Given the description of an element on the screen output the (x, y) to click on. 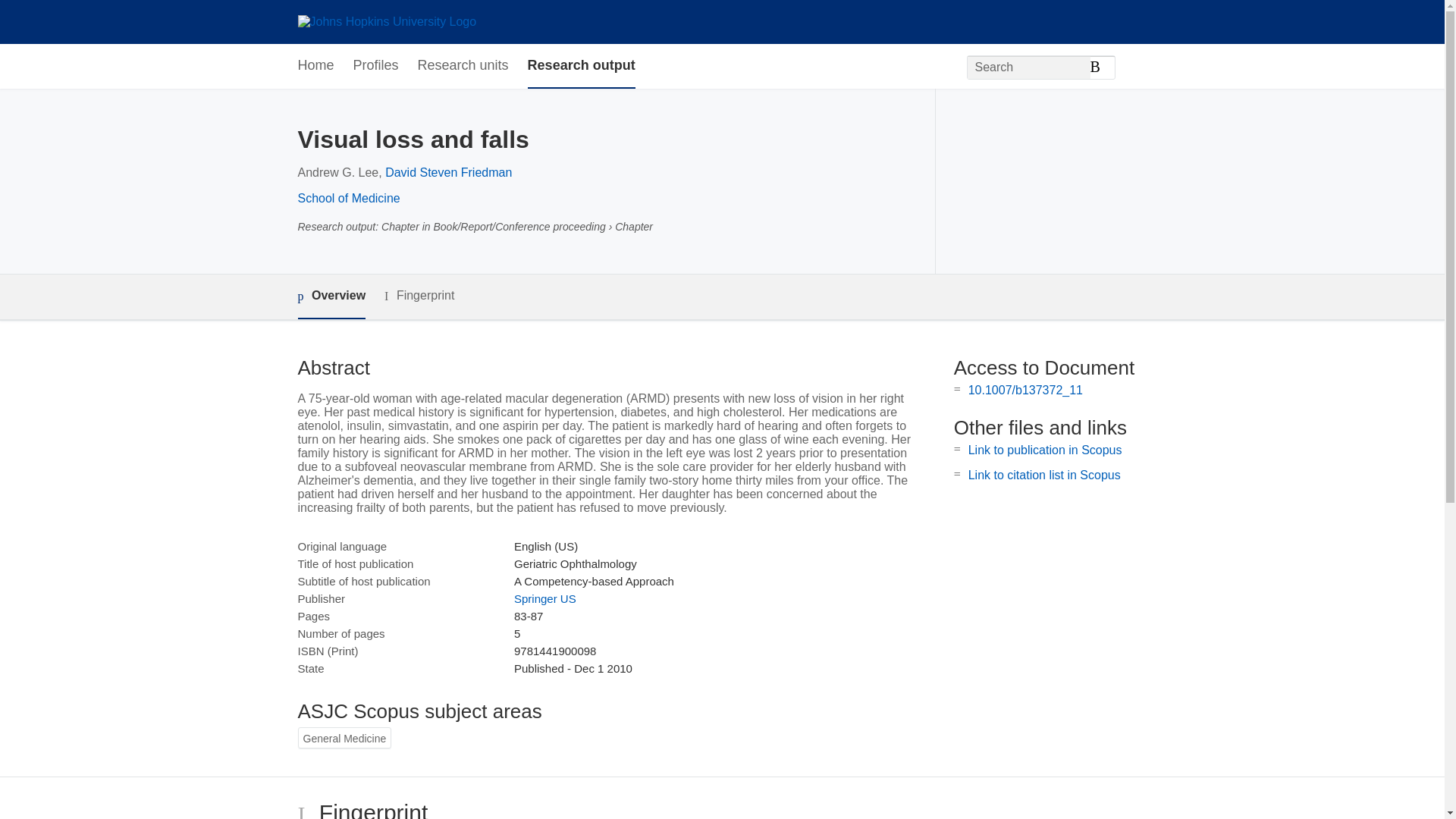
David Steven Friedman (448, 172)
School of Medicine (347, 197)
Overview (331, 296)
Springer US (544, 598)
Johns Hopkins University Home (386, 21)
Link to publication in Scopus (1045, 449)
Research output (580, 66)
Link to citation list in Scopus (1044, 474)
Fingerprint (419, 295)
